Given the description of an element on the screen output the (x, y) to click on. 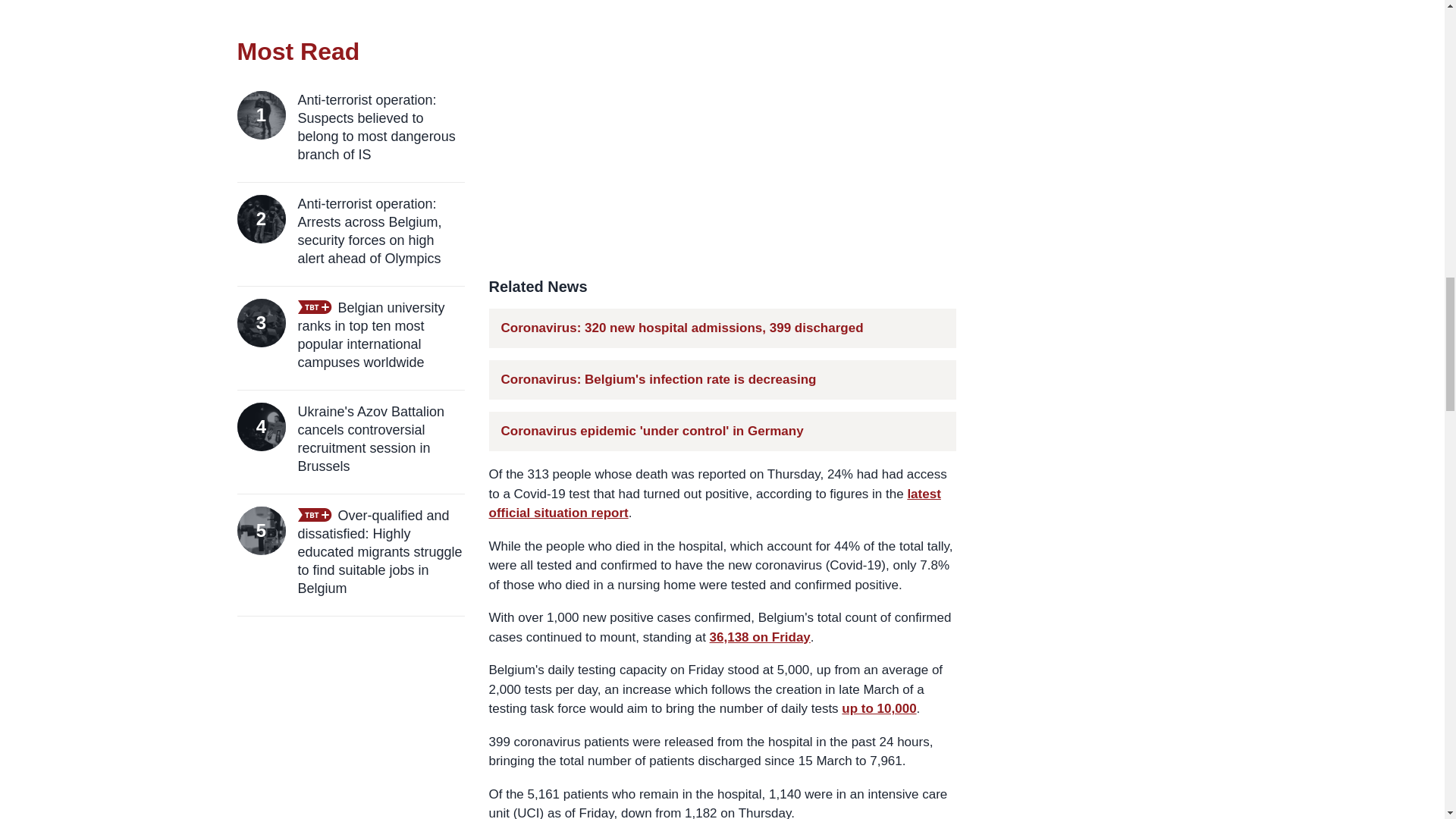
Coronavirus: 320 new hospital admissions, 399 discharged (681, 328)
latest official situation report (713, 503)
up to 10,000 (878, 708)
Coronavirus epidemic 'under control' in Germany (651, 431)
36,138 on Friday (760, 636)
3rd party ad content (721, 126)
Coronavirus: Belgium's infection rate is decreasing (657, 379)
